Given the description of an element on the screen output the (x, y) to click on. 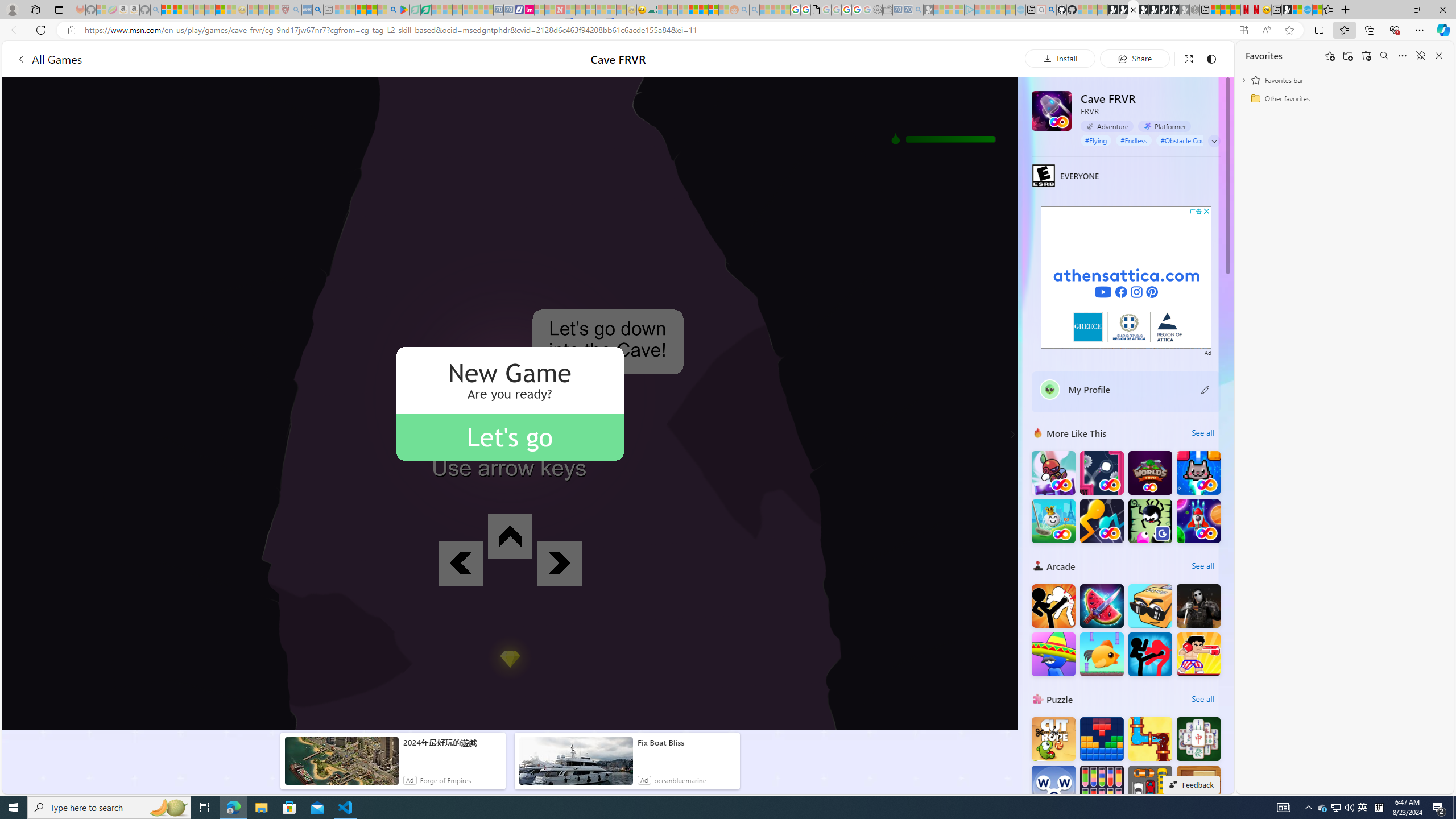
Microsoft Word - consumer-privacy address update 2.2021 (426, 9)
